Given the description of an element on the screen output the (x, y) to click on. 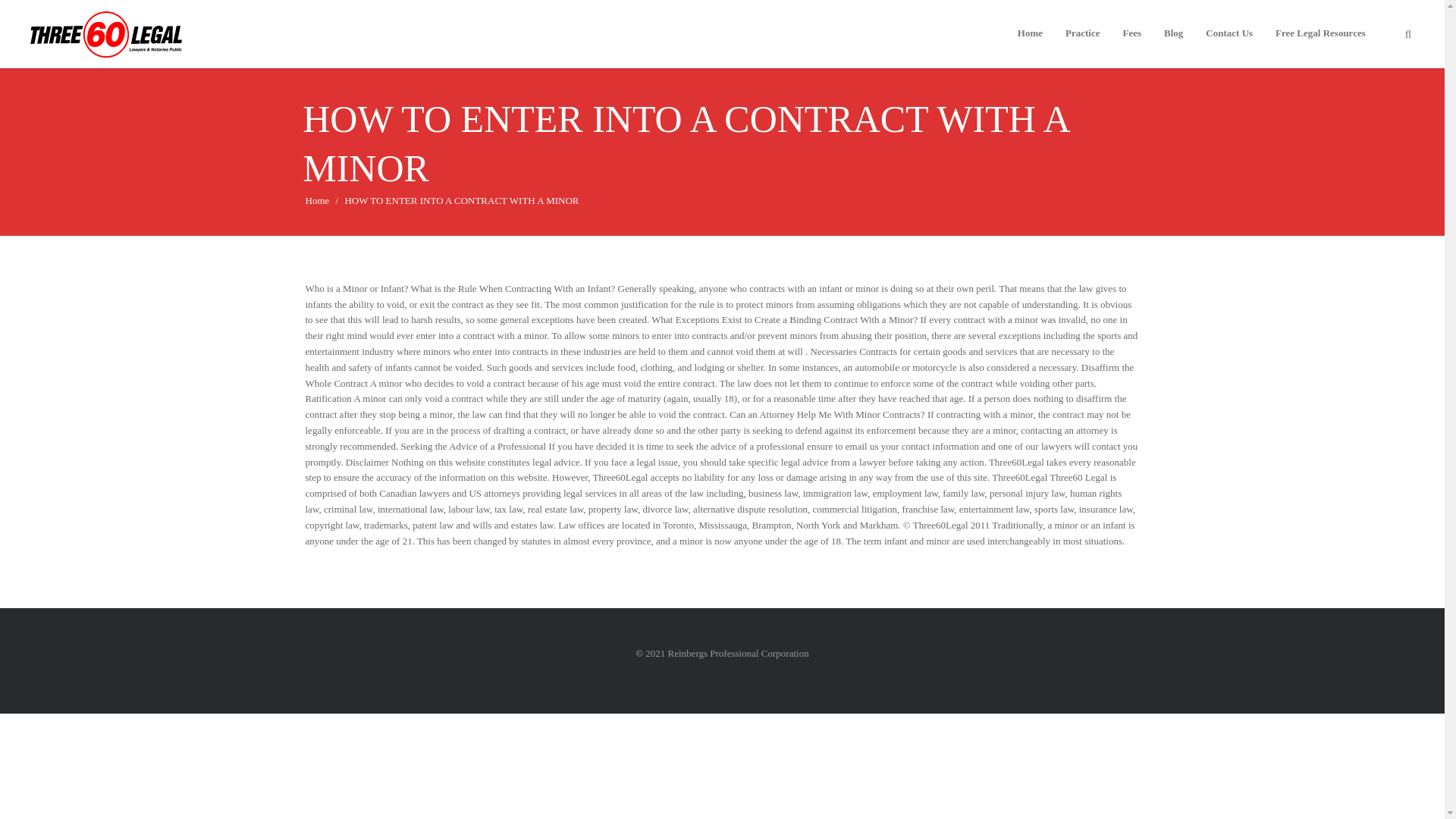
Home (1030, 42)
Contact Us (1228, 42)
Blog (1173, 42)
Free Legal Resources (1320, 42)
Practice (1082, 42)
Home (316, 200)
Fees (1132, 42)
